Given the description of an element on the screen output the (x, y) to click on. 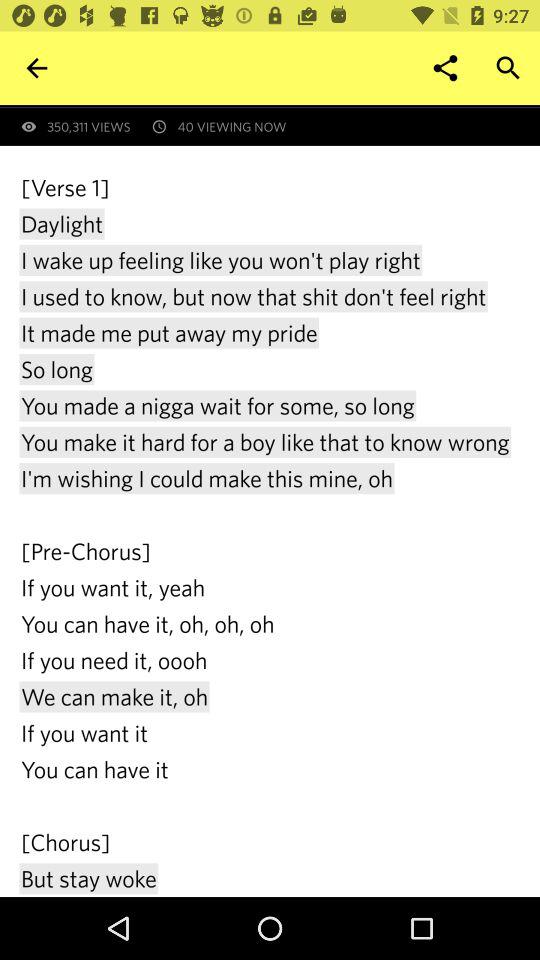
open the icon below 350,311 views icon (270, 534)
